Given the description of an element on the screen output the (x, y) to click on. 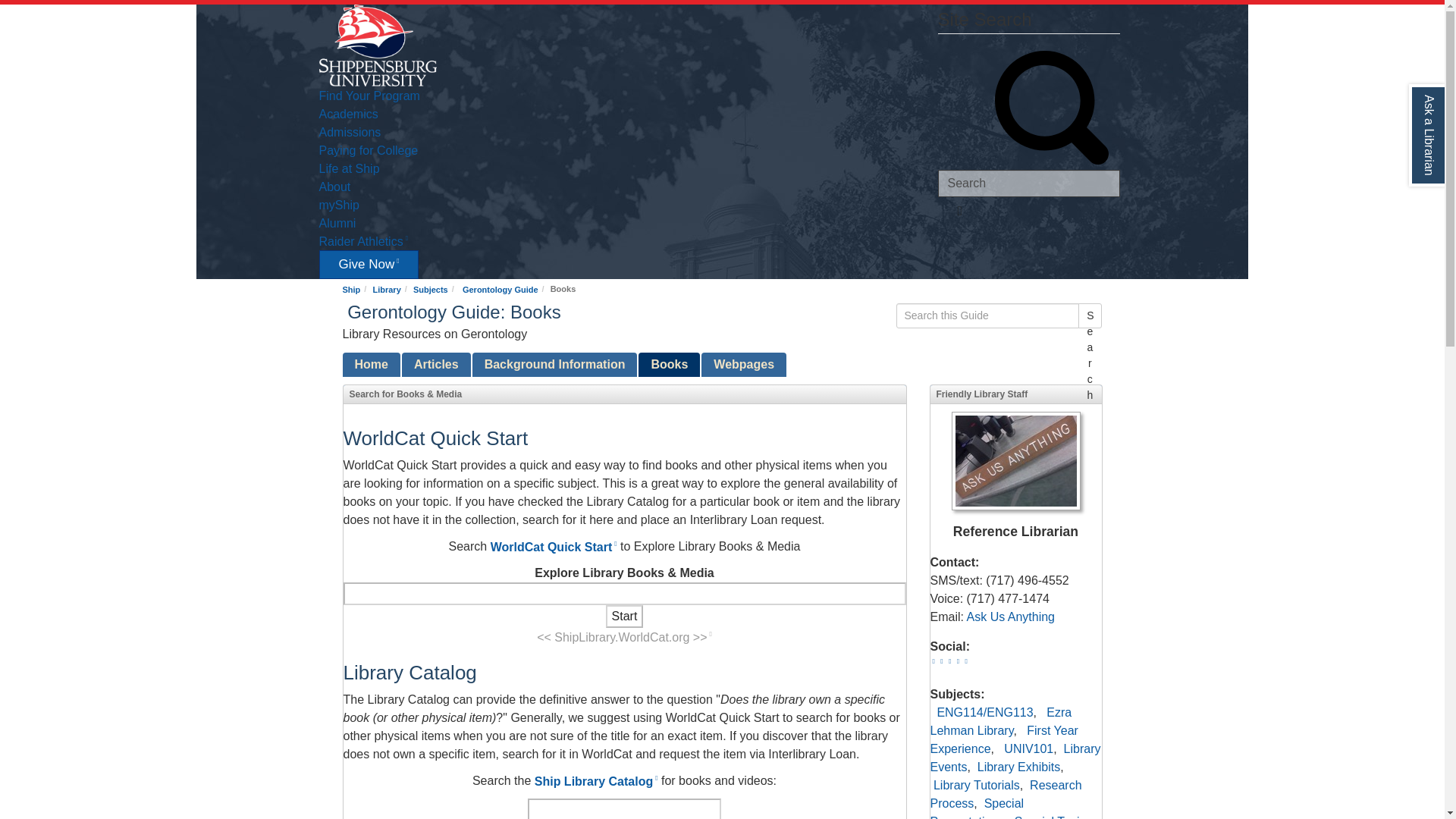
Learn about what you're writing about (554, 364)
Paying for College (367, 149)
Prioritized list of databases with CJ-related topic coverage (435, 364)
Search Ship (1028, 183)
Shippensburg University (376, 44)
Life at Ship (348, 167)
Start (624, 616)
Find Your Program (368, 94)
Admissions (349, 131)
Academics (347, 112)
WorldCat (624, 636)
Book resources (669, 364)
